Given the description of an element on the screen output the (x, y) to click on. 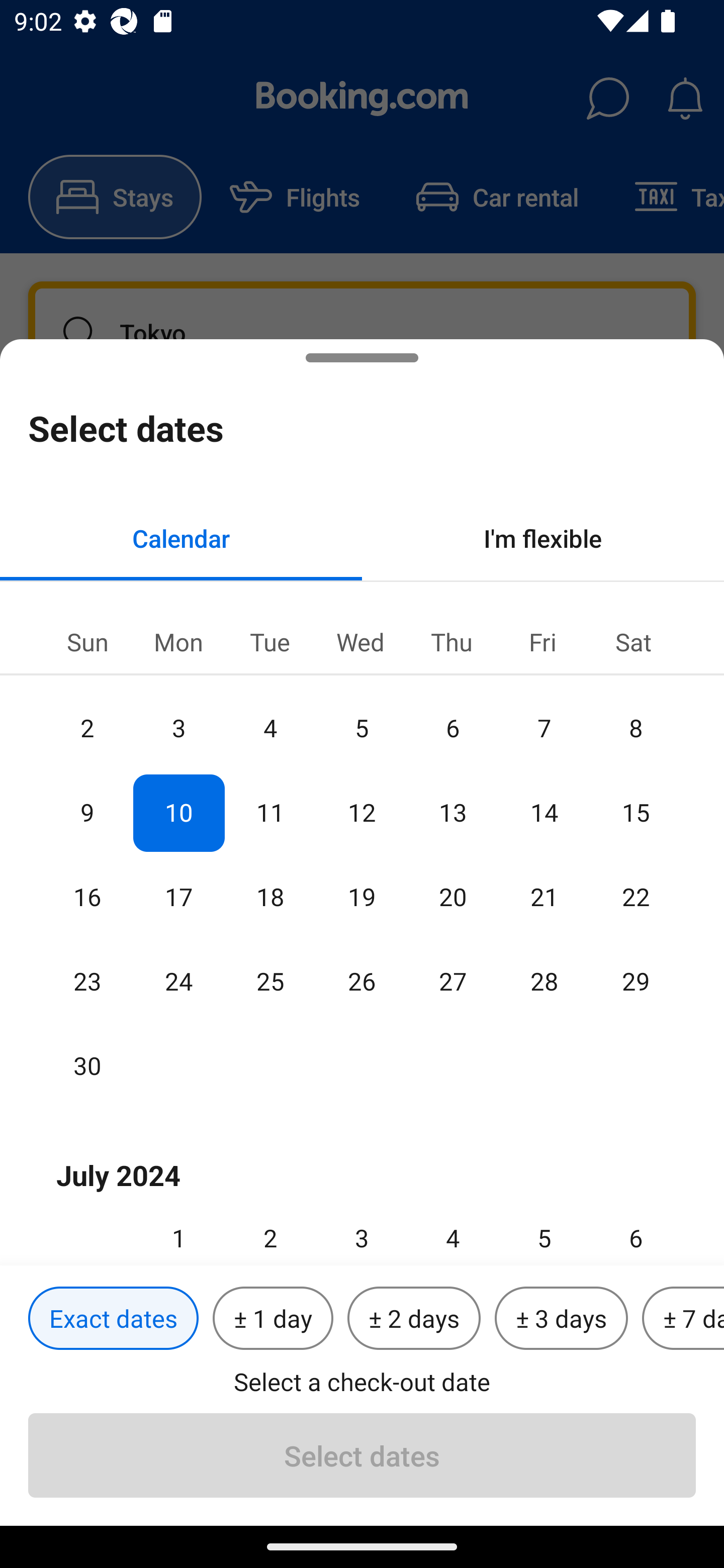
I'm flexible (543, 537)
Exact dates (113, 1318)
± 1 day (272, 1318)
± 2 days (413, 1318)
± 3 days (560, 1318)
± 7 days (683, 1318)
Select dates (361, 1454)
